Given the description of an element on the screen output the (x, y) to click on. 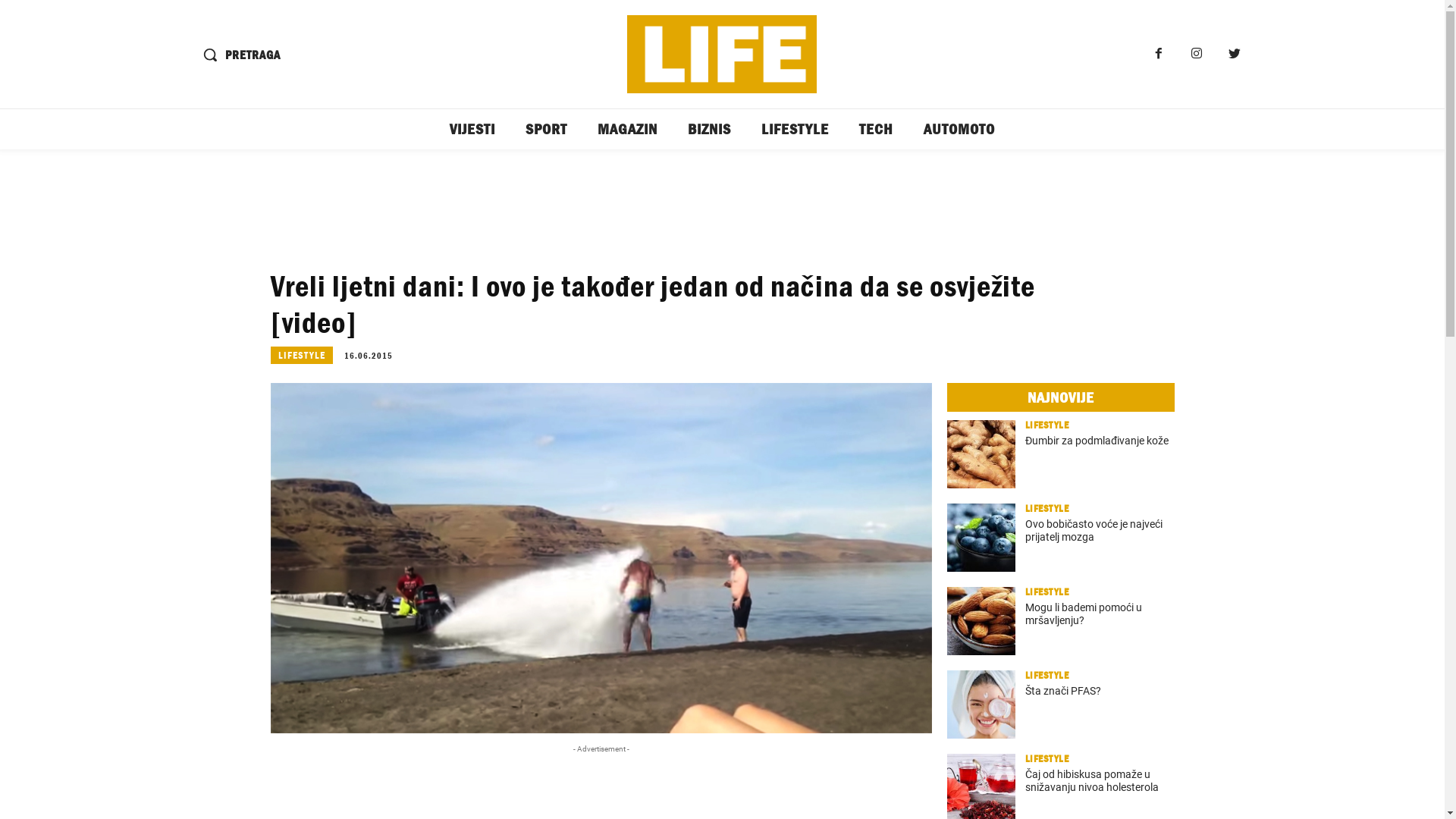
LIFESTYLE Element type: text (1047, 675)
hladjenje Element type: hover (600, 557)
LIFESTYLE Element type: text (1047, 758)
Twitter Element type: hover (1234, 54)
LIFESTYLE Element type: text (1047, 591)
SPORT Element type: text (546, 128)
LIFESTYLE Element type: text (794, 128)
Advertisement Element type: hover (721, 209)
Instagram Element type: hover (1196, 54)
LIFESTYLE Element type: text (300, 355)
AUTOMOTO Element type: text (959, 128)
PRETRAGA Element type: text (236, 54)
TECH Element type: text (875, 128)
VIJESTI Element type: text (472, 128)
LIFESTYLE Element type: text (1047, 424)
LIFESTYLE Element type: text (1047, 508)
MAGAZIN Element type: text (627, 128)
BIZNIS Element type: text (709, 128)
Facebook Element type: hover (1158, 54)
